Given the description of an element on the screen output the (x, y) to click on. 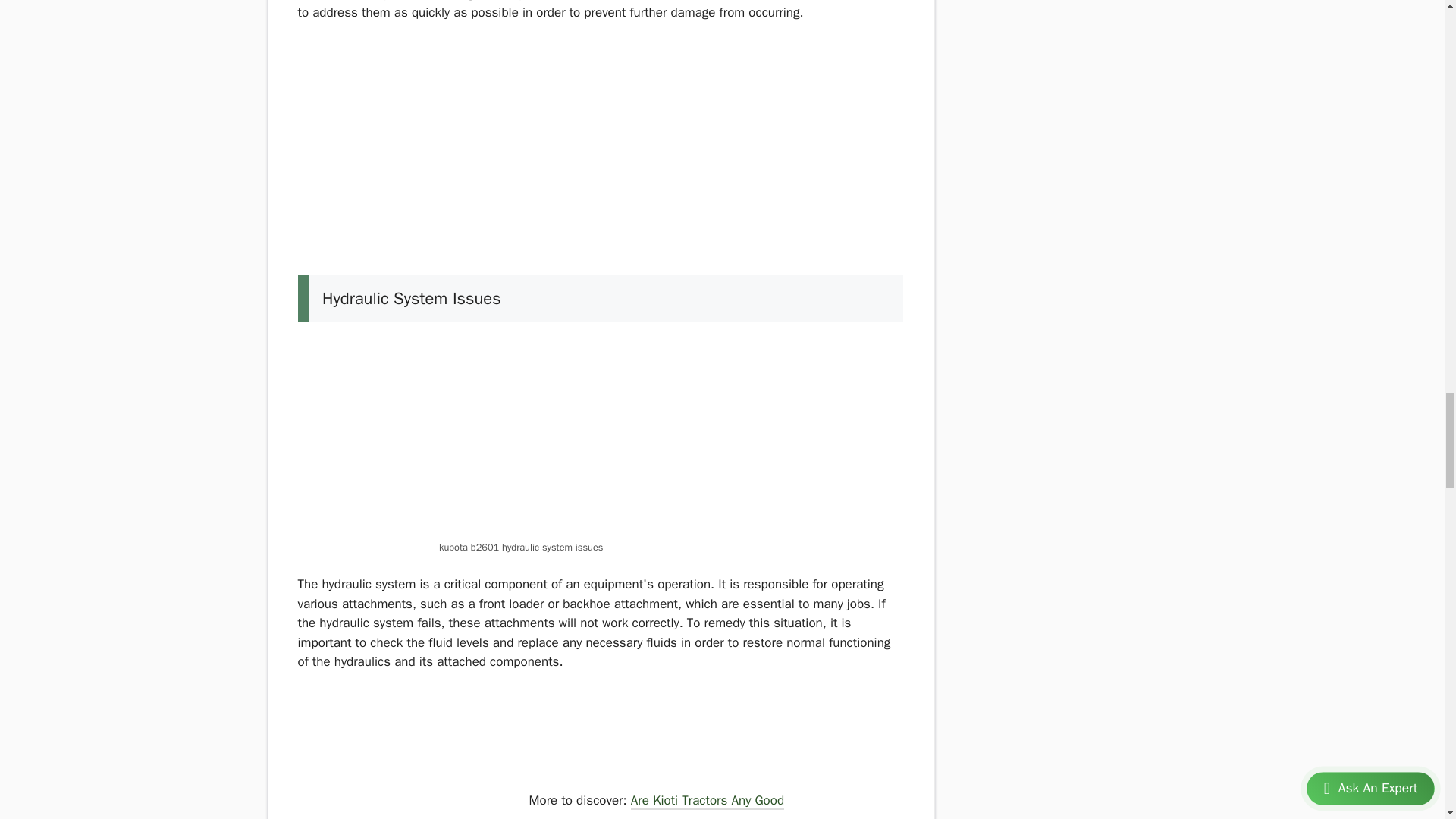
kubota b2601 problems 8 (410, 747)
Are Kioti Tractors Any Good (707, 801)
kubota b2601 problems 7 (600, 437)
